Given the description of an element on the screen output the (x, y) to click on. 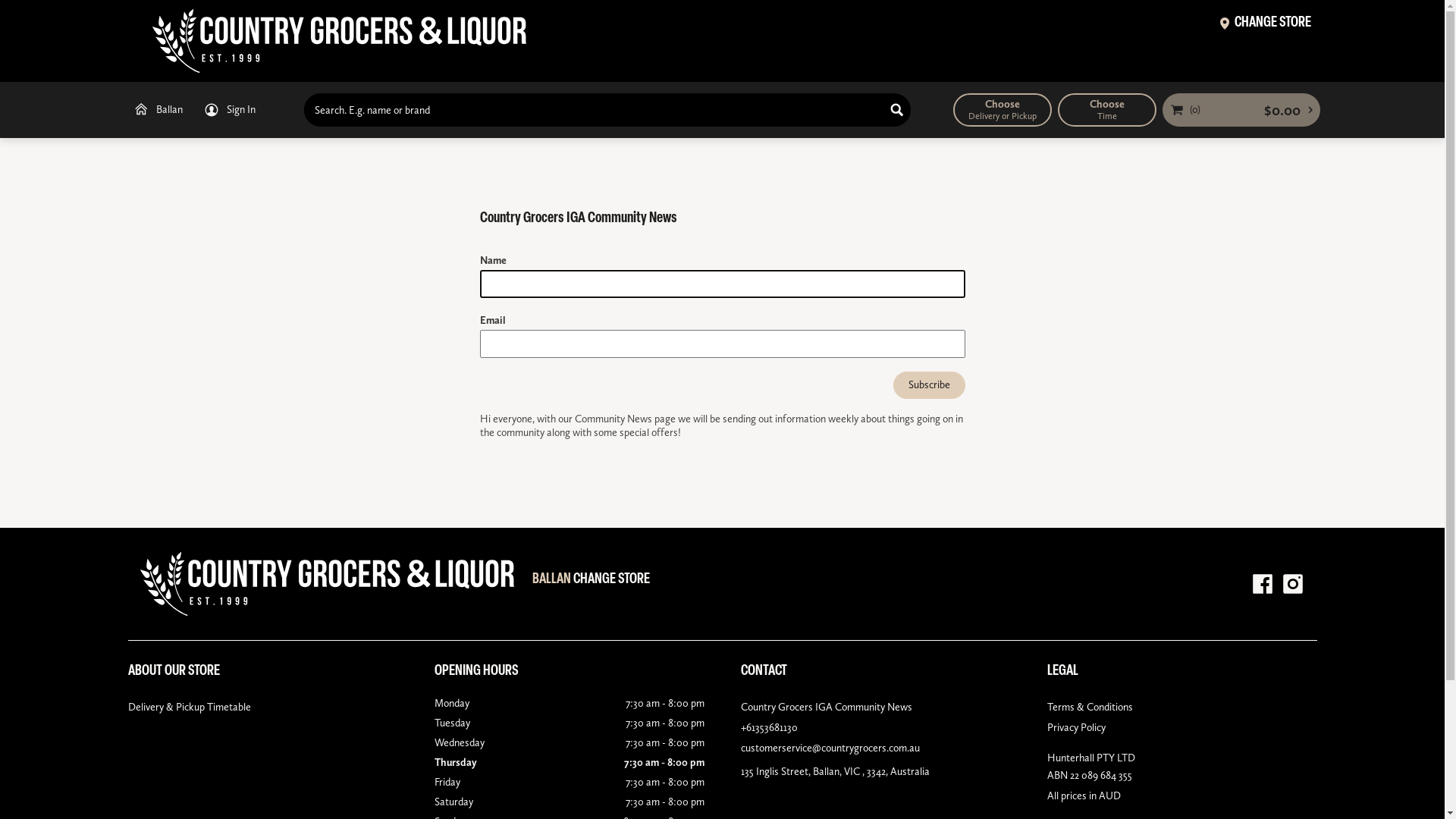
Search Element type: hover (896, 109)
Sign In Element type: text (228, 109)
135 Inglis Street, Ballan, VIC , 3342, Australia Element type: text (875, 771)
Privacy Policy Element type: text (1181, 727)
Terms & Conditions Element type: text (1181, 706)
Instagram countrygrocersigaballan Element type: hover (1292, 583)
CHANGE STORE Element type: text (1265, 24)
BALLAN CHANGE STORE Element type: text (590, 581)
Choose
Delivery or Pickup Element type: text (1001, 109)
Country Grocers IGA Community News Element type: text (875, 706)
Choose
Time Element type: text (1106, 109)
Facebook Element type: hover (1261, 583)
+61353681130 Element type: text (875, 727)
customerservice@countrygrocers.com.au Element type: text (875, 747)
(0)
$0.00 Element type: text (1240, 109)
Delivery & Pickup Timetable Element type: text (262, 706)
Subscribe Element type: text (929, 384)
Ballan Element type: text (156, 109)
